Given the description of an element on the screen output the (x, y) to click on. 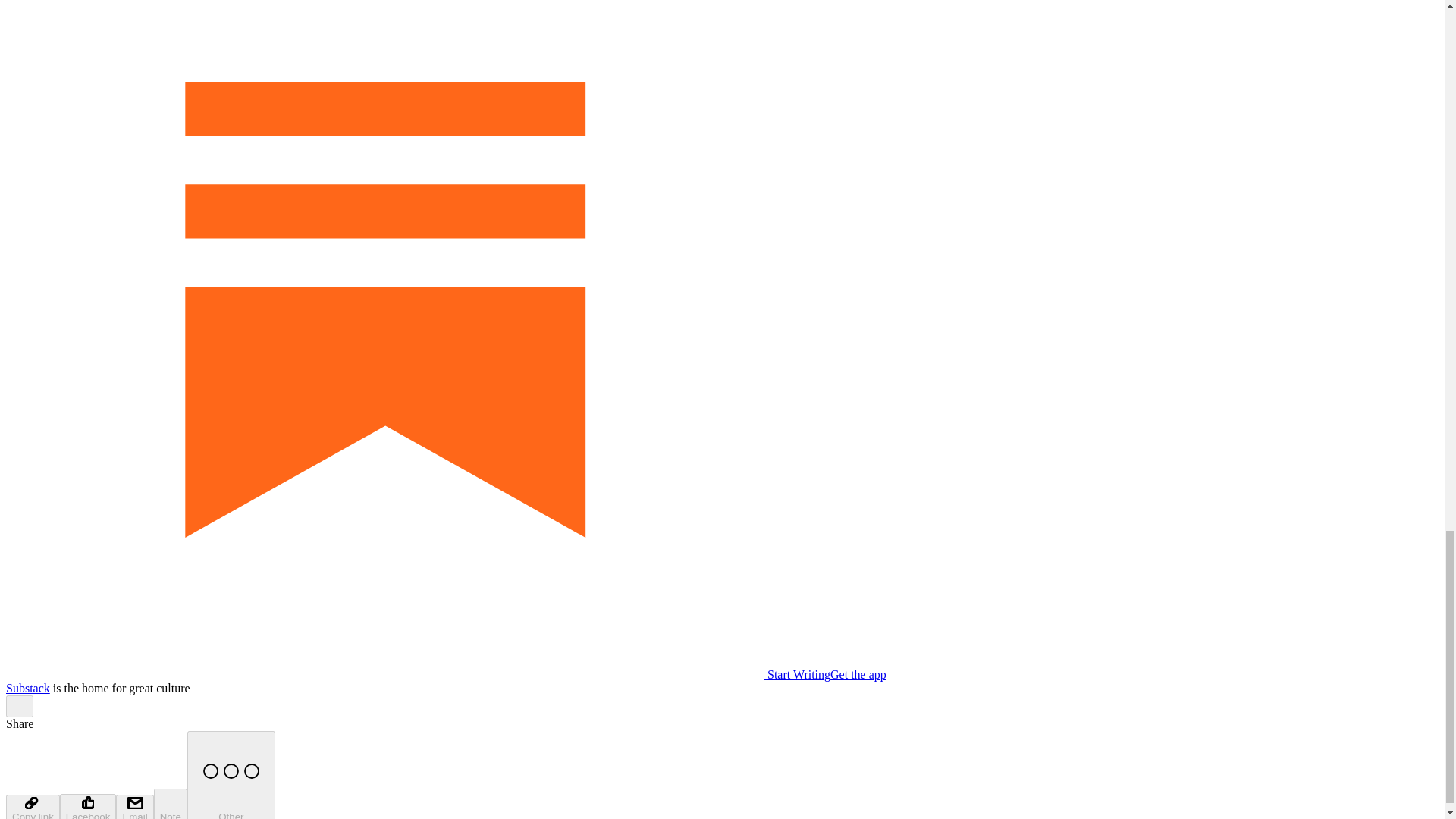
Start Writing (417, 674)
Substack (27, 687)
Get the app (857, 674)
